Given the description of an element on the screen output the (x, y) to click on. 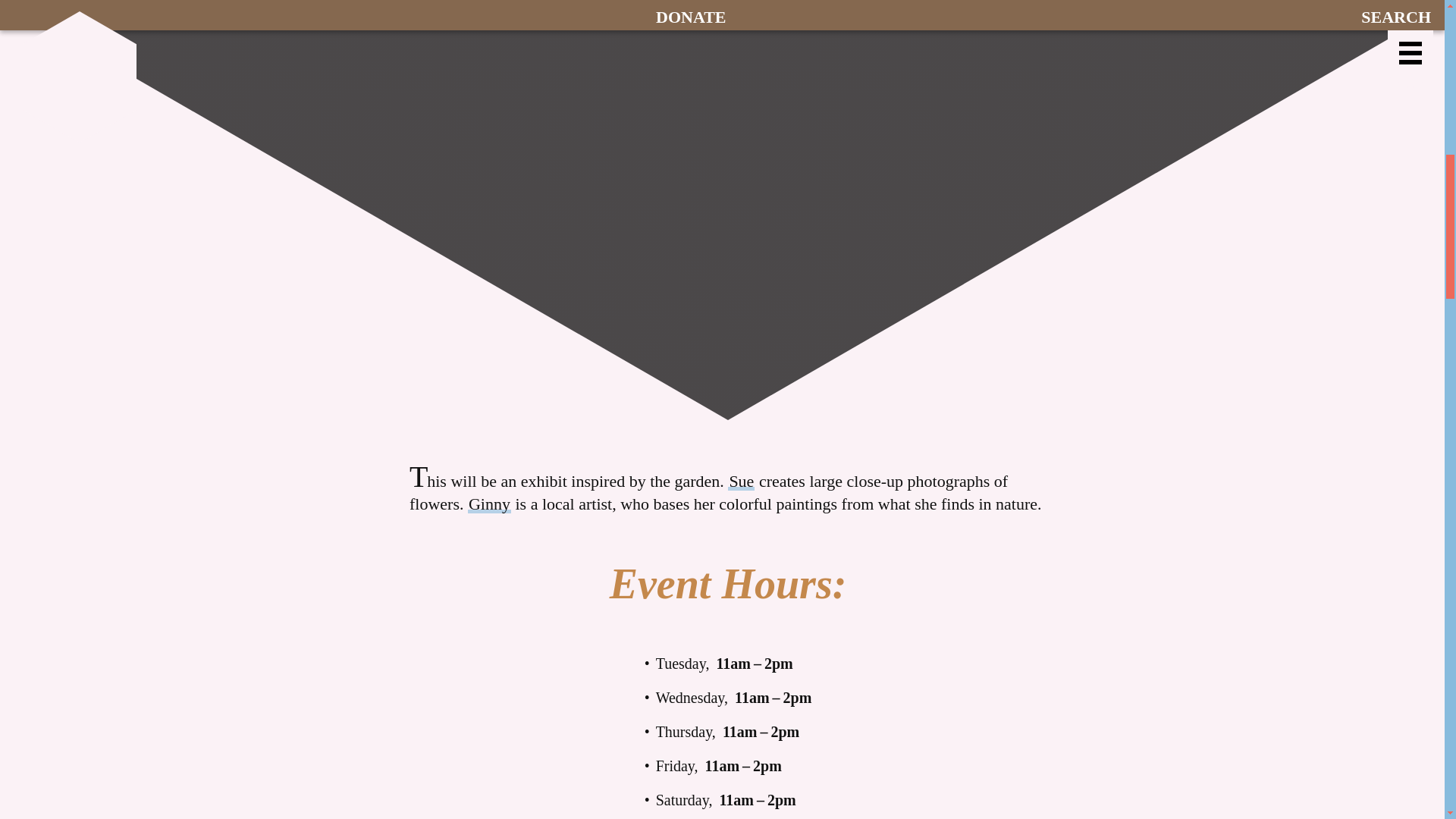
Sue (741, 480)
Ginny (489, 503)
